Given the description of an element on the screen output the (x, y) to click on. 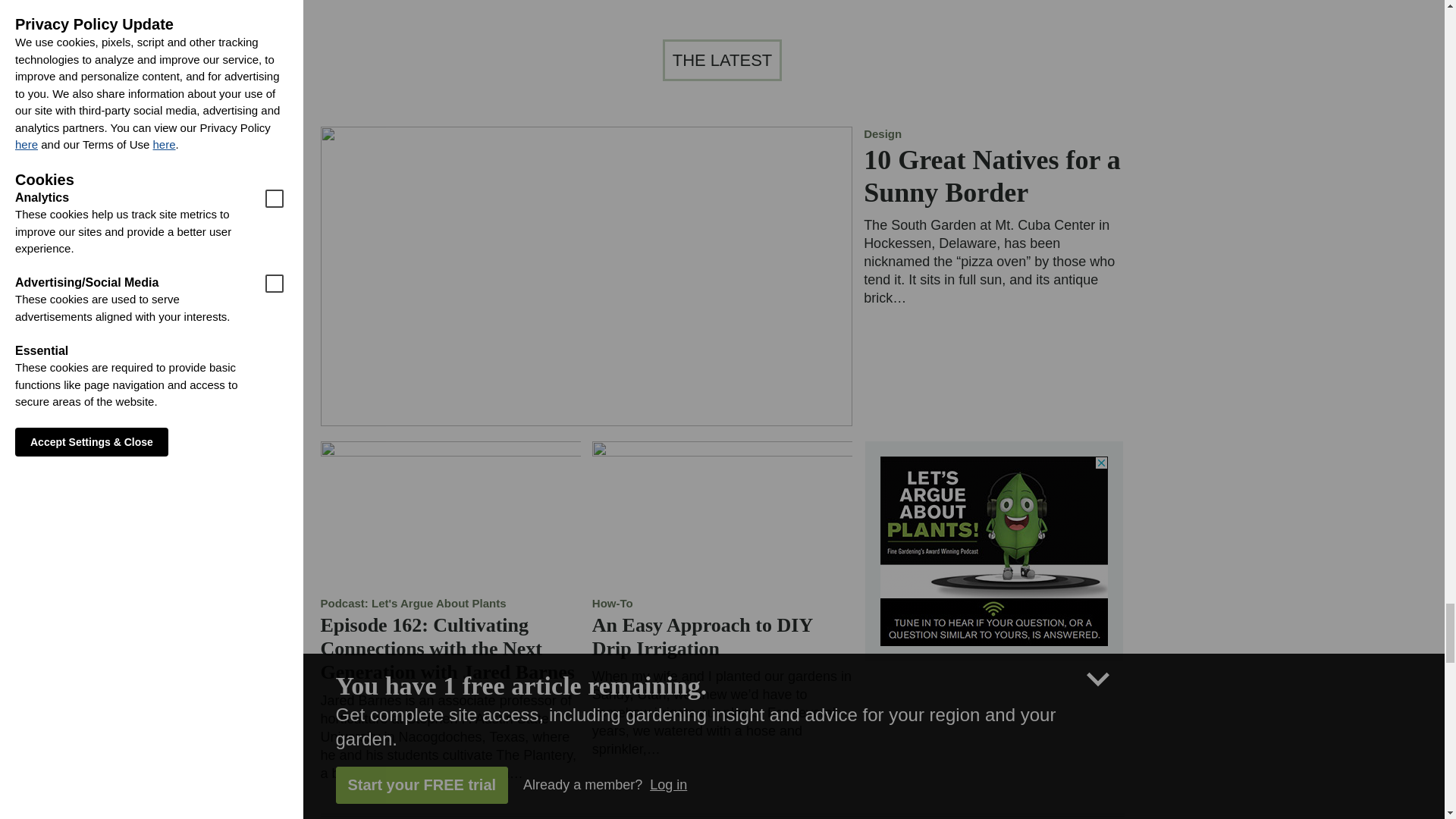
3rd party ad content (994, 551)
